Given the description of an element on the screen output the (x, y) to click on. 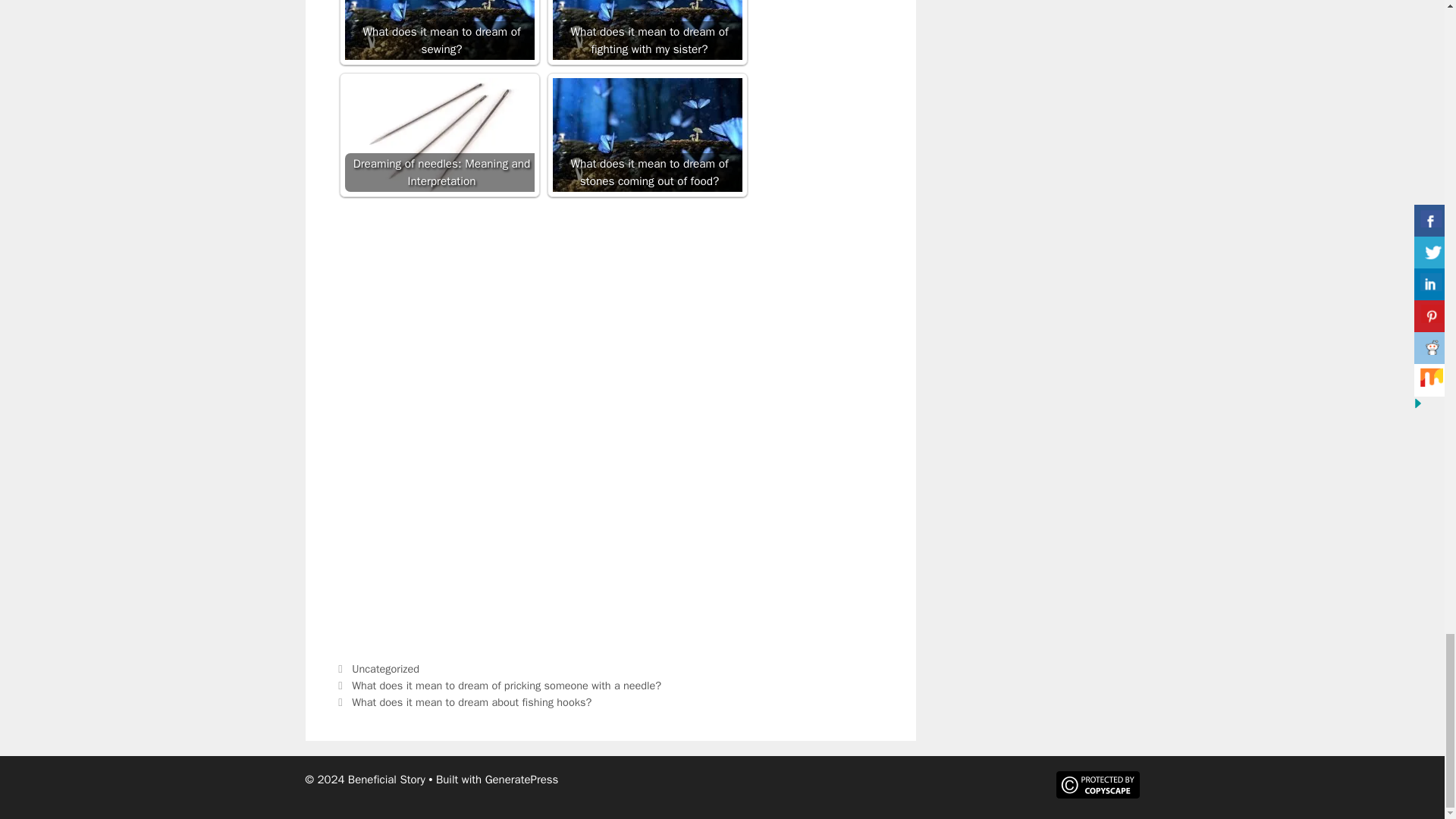
What does it mean to dream of fighting with my sister? (646, 29)
What does it mean to dream of sewing? (438, 29)
